Given the description of an element on the screen output the (x, y) to click on. 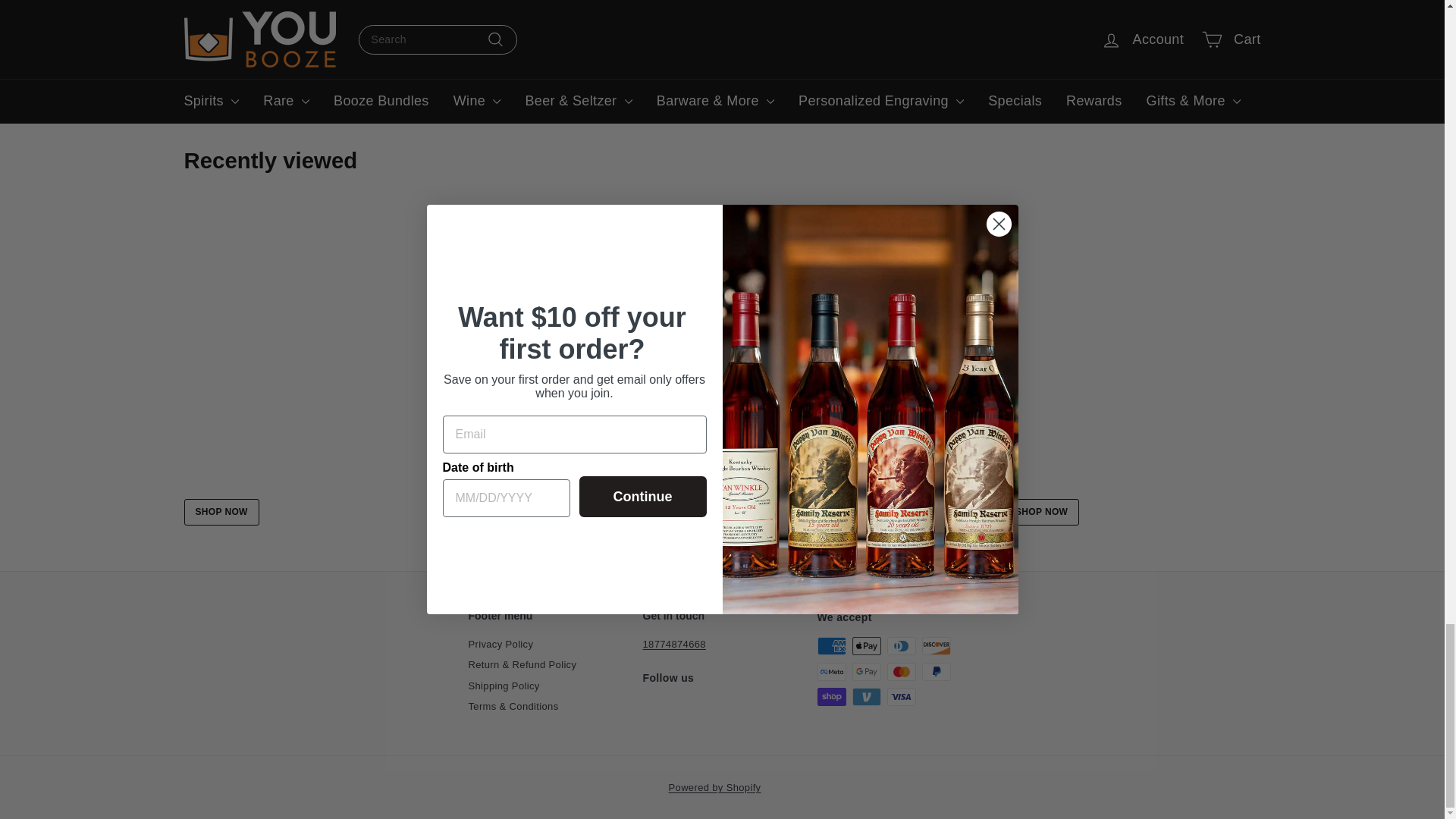
American Express (830, 646)
Apple Pay (865, 646)
Diners Club (900, 646)
